Given the description of an element on the screen output the (x, y) to click on. 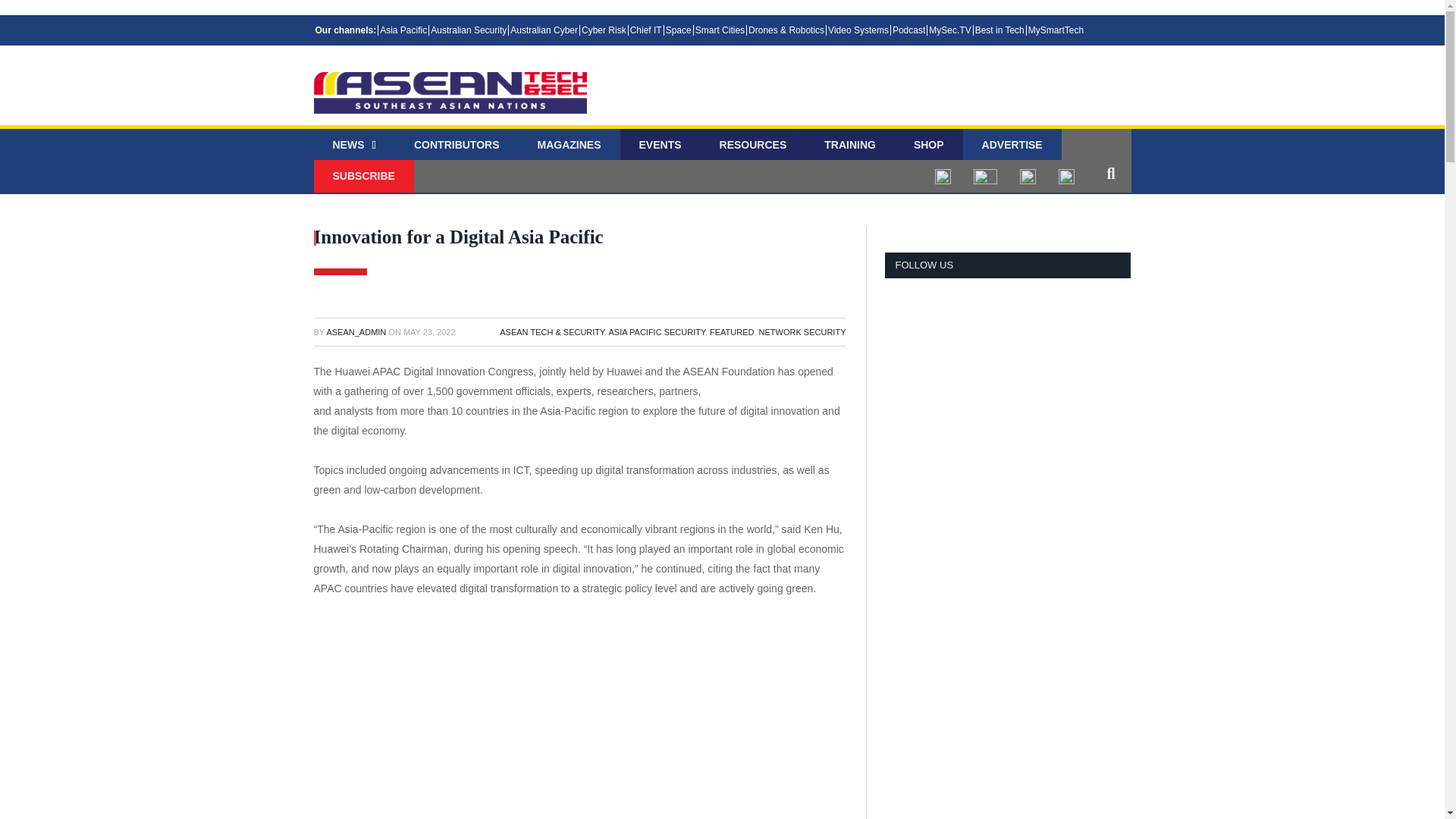
NEWS (354, 145)
2022-05-23 (429, 331)
RESOURCES (753, 145)
Space (678, 30)
Search (1110, 173)
SUBSCRIBE (363, 175)
Chief IT (645, 30)
CONTRIBUTORS (456, 145)
Video Systems (857, 30)
TRAINING (850, 145)
